Given the description of an element on the screen output the (x, y) to click on. 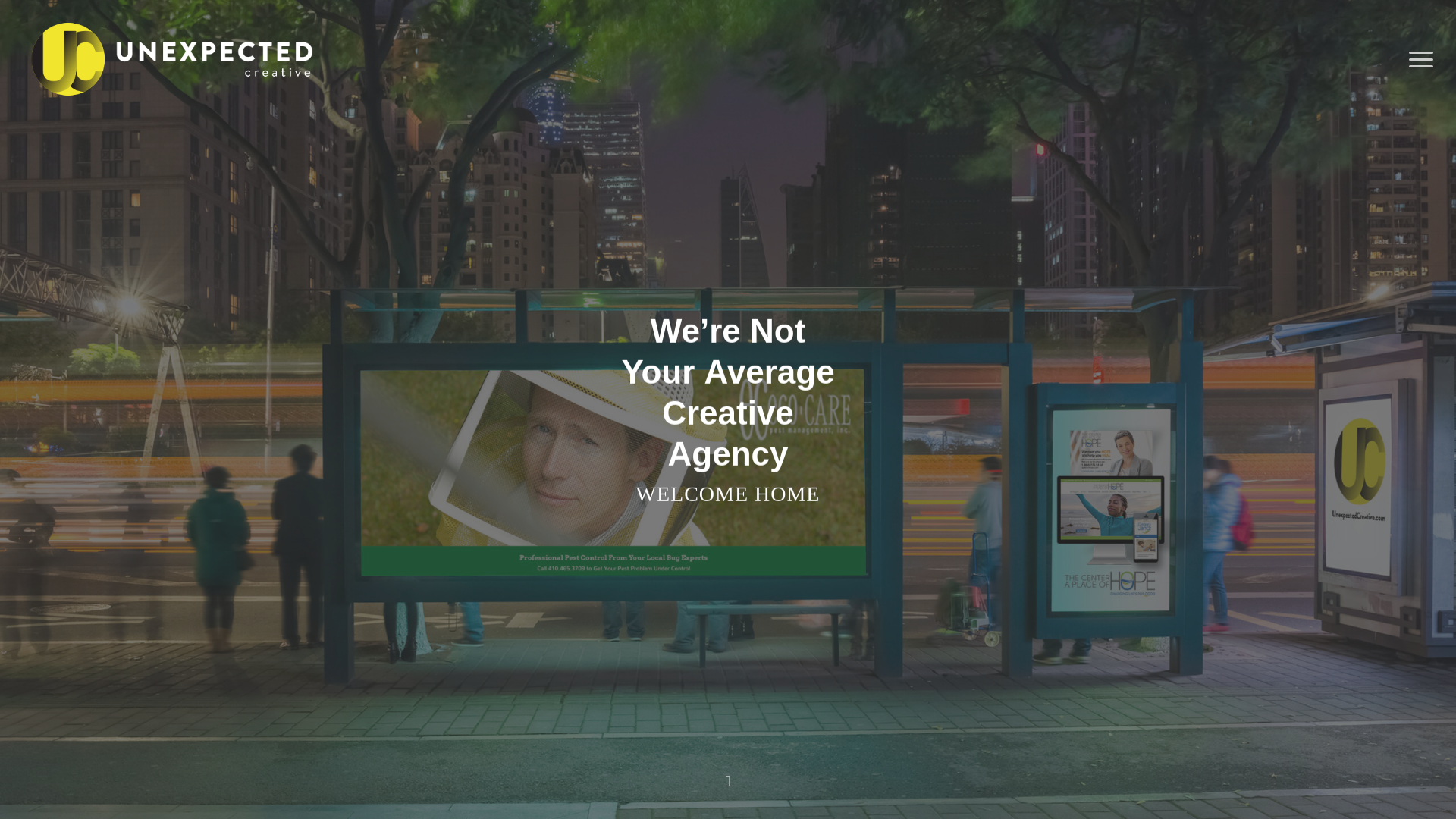
Menu (1421, 58)
